Given the description of an element on the screen output the (x, y) to click on. 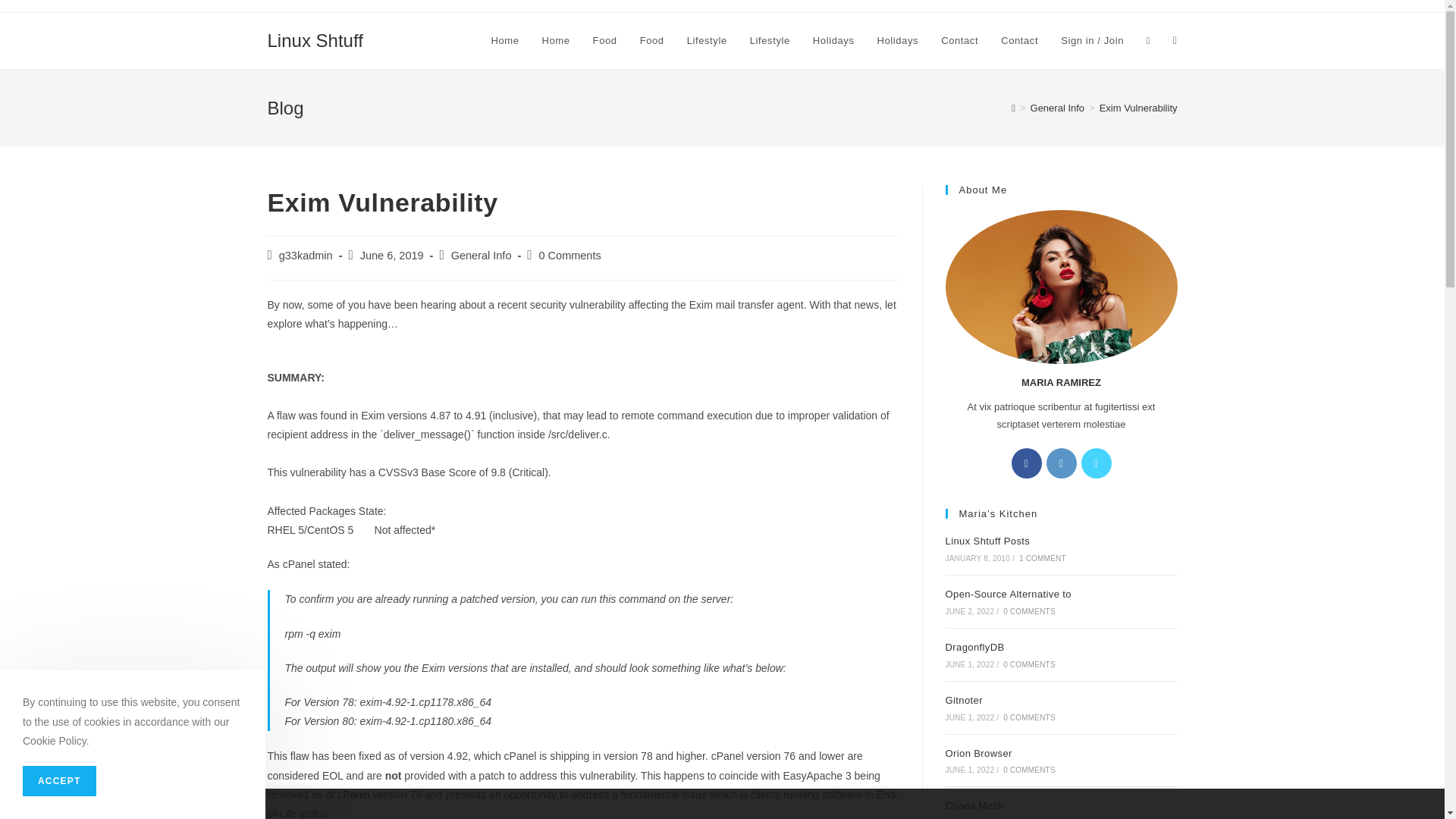
Home (504, 40)
Home (555, 40)
Exim Vulnerability (1138, 107)
Holidays (898, 40)
g33kadmin (306, 255)
Lifestyle (770, 40)
Lifestyle (706, 40)
Contact (960, 40)
General Info (481, 255)
Contact (1019, 40)
